Given the description of an element on the screen output the (x, y) to click on. 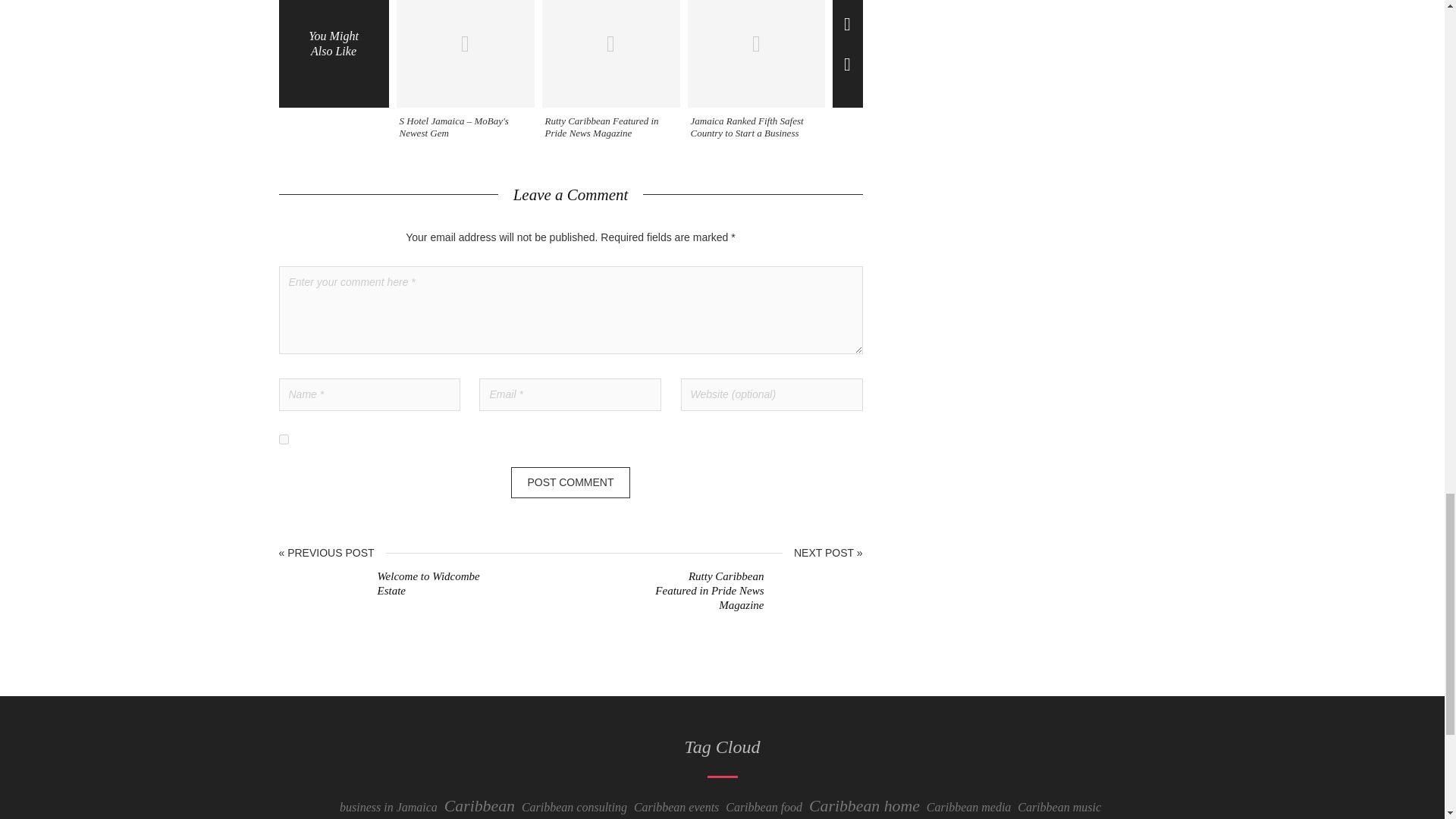
yes (283, 439)
Post Comment (569, 481)
